Given the description of an element on the screen output the (x, y) to click on. 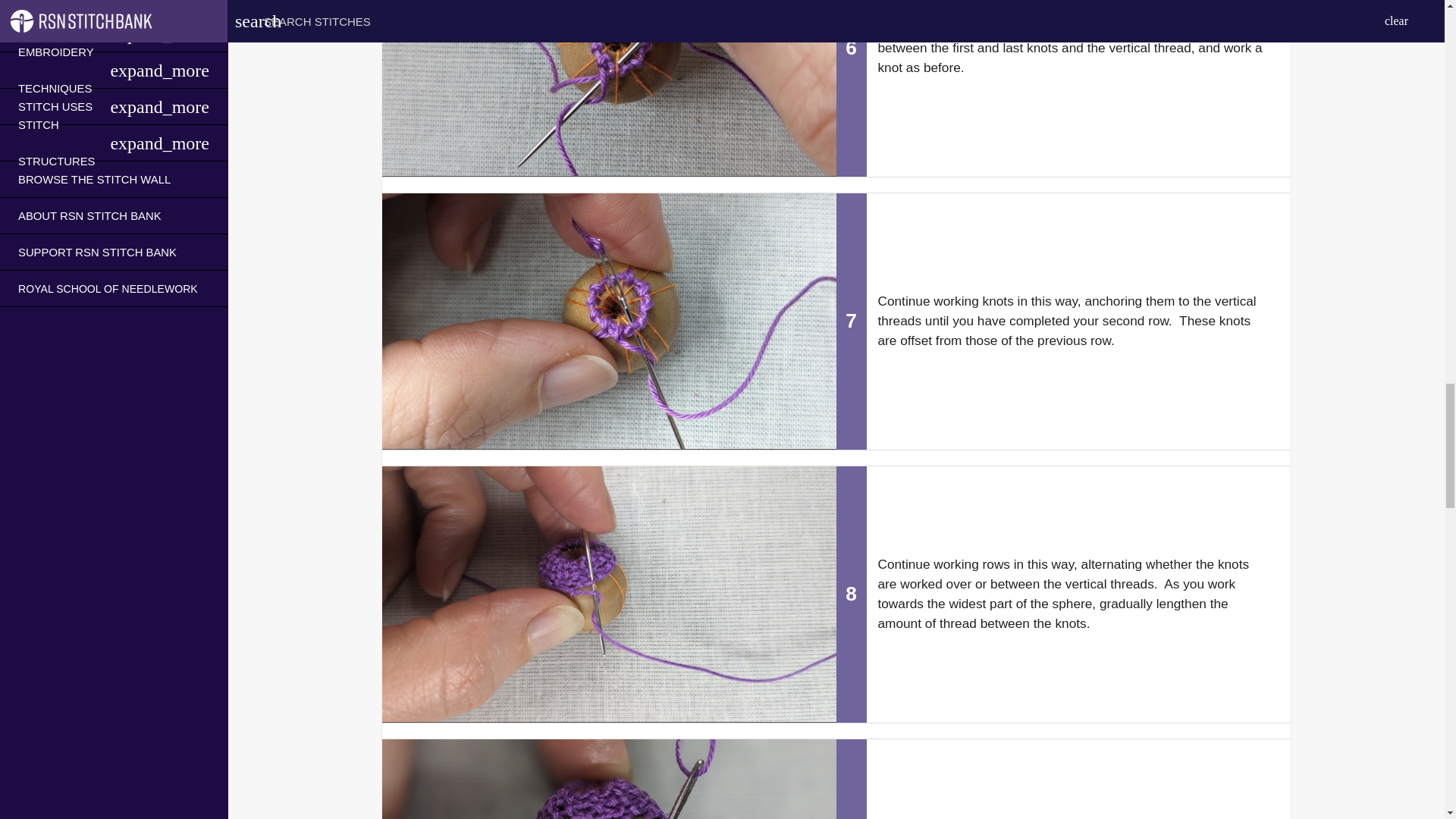
Ball stitch method stage 8 (608, 593)
Ball stitch method stage 6 (608, 88)
Ball stitch method stage 7 (608, 320)
Ball stitch method stage 9 (608, 779)
